Given the description of an element on the screen output the (x, y) to click on. 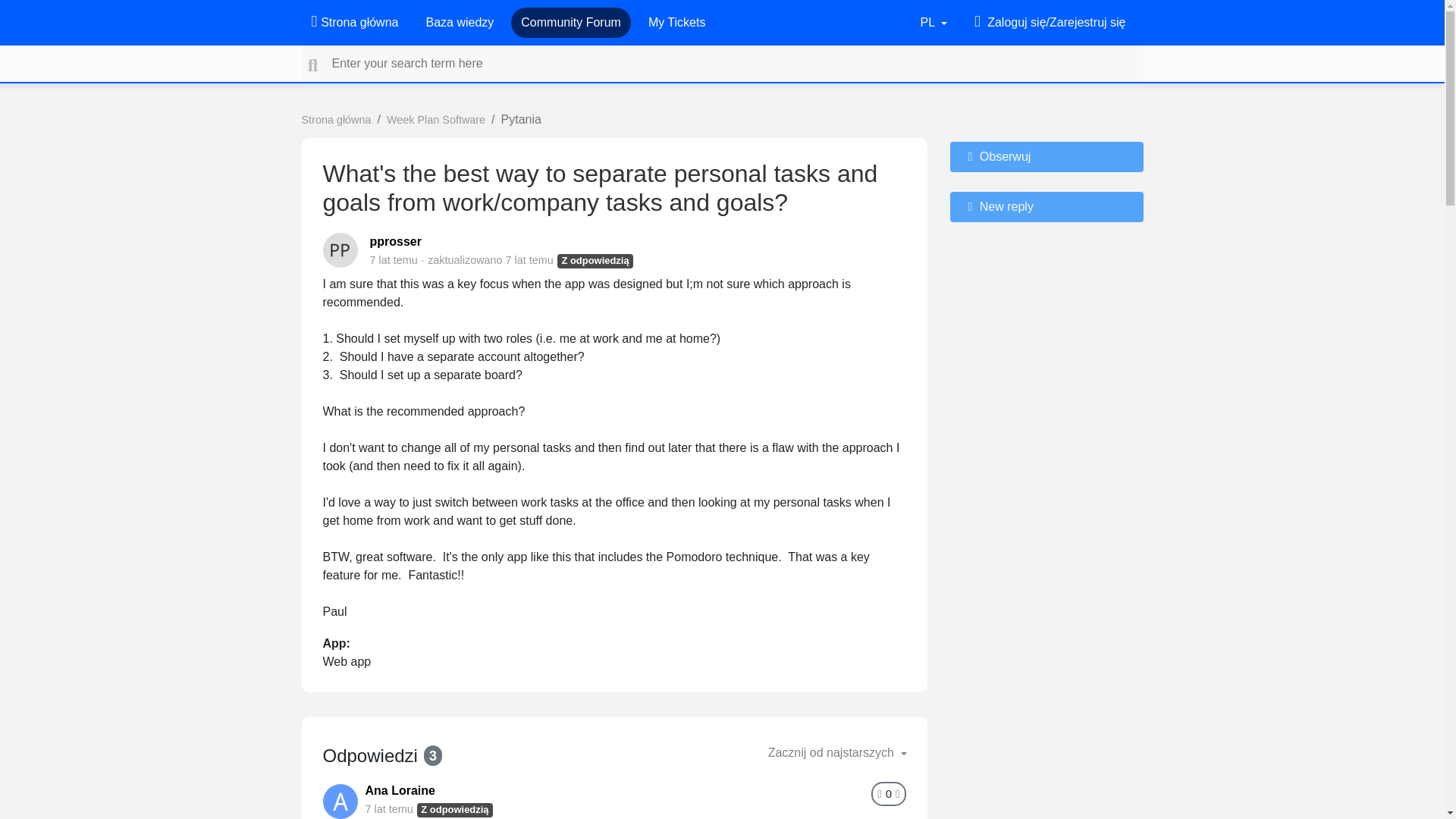
pprosser (395, 241)
11 grudnia 2017 15:50 (393, 259)
Obserwuj (1045, 156)
Zacznij od najstarszych (837, 752)
14 grudnia 2017 10:09 (529, 259)
Ana Loraine (400, 789)
12 grudnia 2017 10:31 (389, 808)
Community Forum (571, 22)
My Tickets (676, 22)
Baza wiedzy (459, 22)
Week Plan Software (435, 119)
PL (933, 22)
New reply (1045, 206)
